Given the description of an element on the screen output the (x, y) to click on. 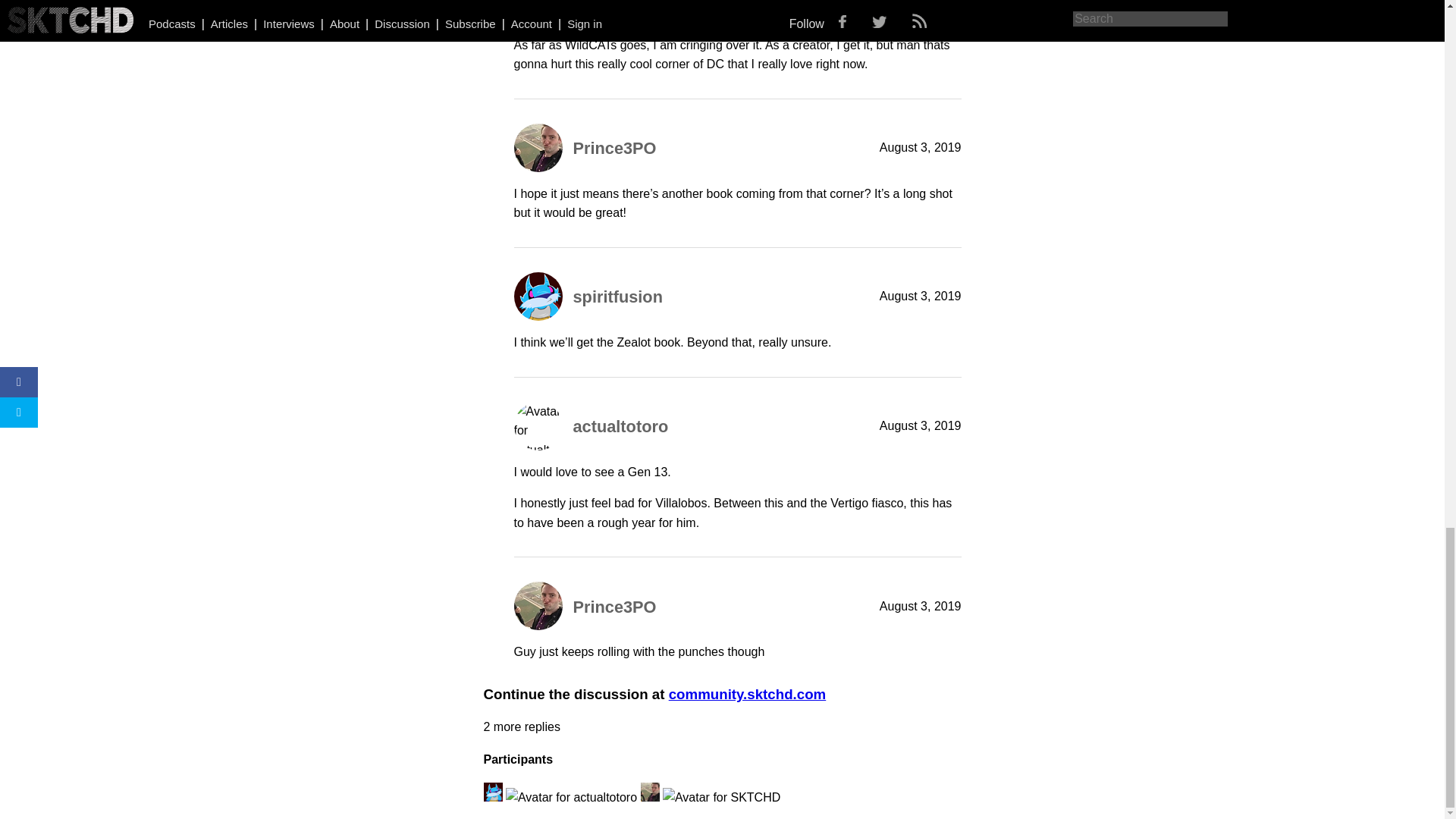
Prince3PO (614, 606)
actualtotoro (620, 425)
Prince3PO (614, 148)
community.sktchd.com (747, 693)
spiritfusion (617, 296)
